Given the description of an element on the screen output the (x, y) to click on. 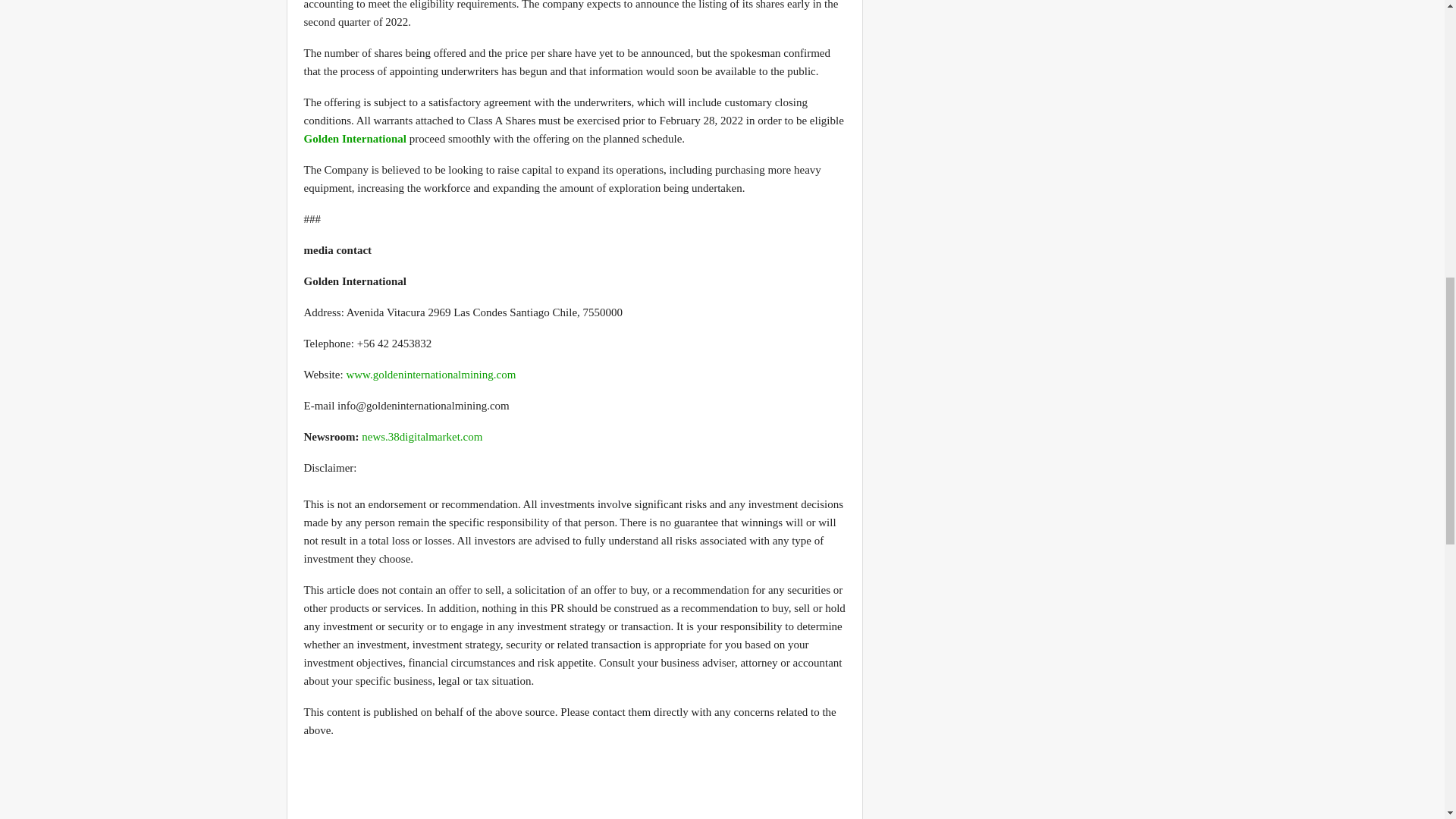
Golden International (354, 138)
www.goldeninternationalmining.com (430, 374)
news.38digitalmarket.com (421, 436)
